Given the description of an element on the screen output the (x, y) to click on. 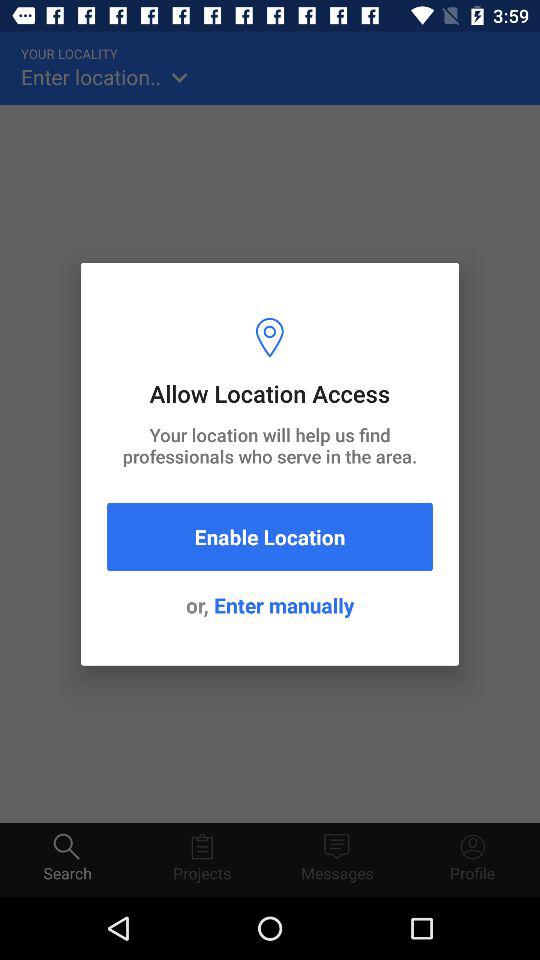
flip until enable location icon (269, 536)
